Given the description of an element on the screen output the (x, y) to click on. 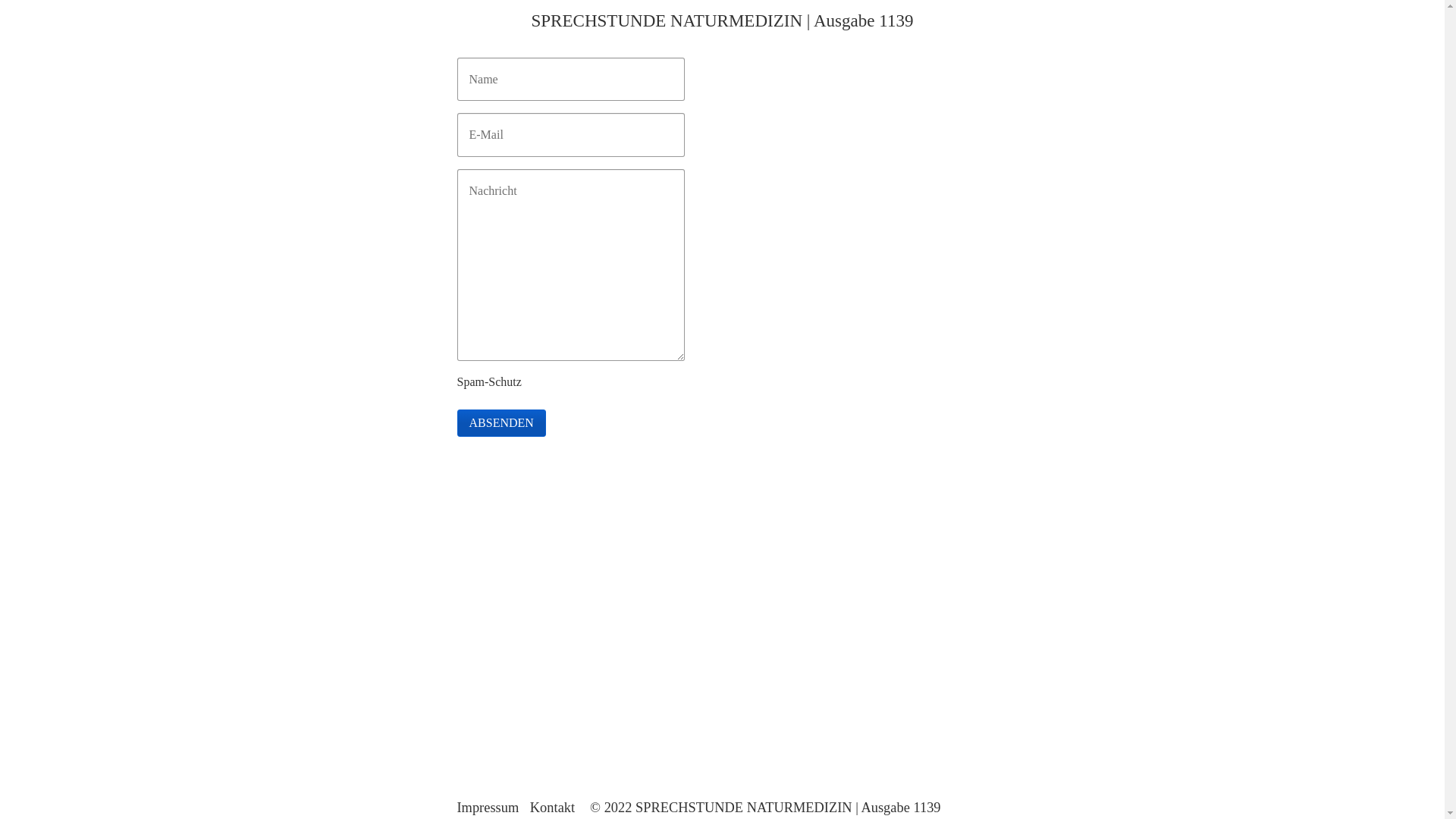
Impressum Element type: text (491, 807)
Absenden Element type: text (500, 422)
Kontakt Element type: text (556, 807)
SPRECHSTUNDE NATURMEDIZIN | Ausgabe 1139 Element type: text (721, 20)
